Given the description of an element on the screen output the (x, y) to click on. 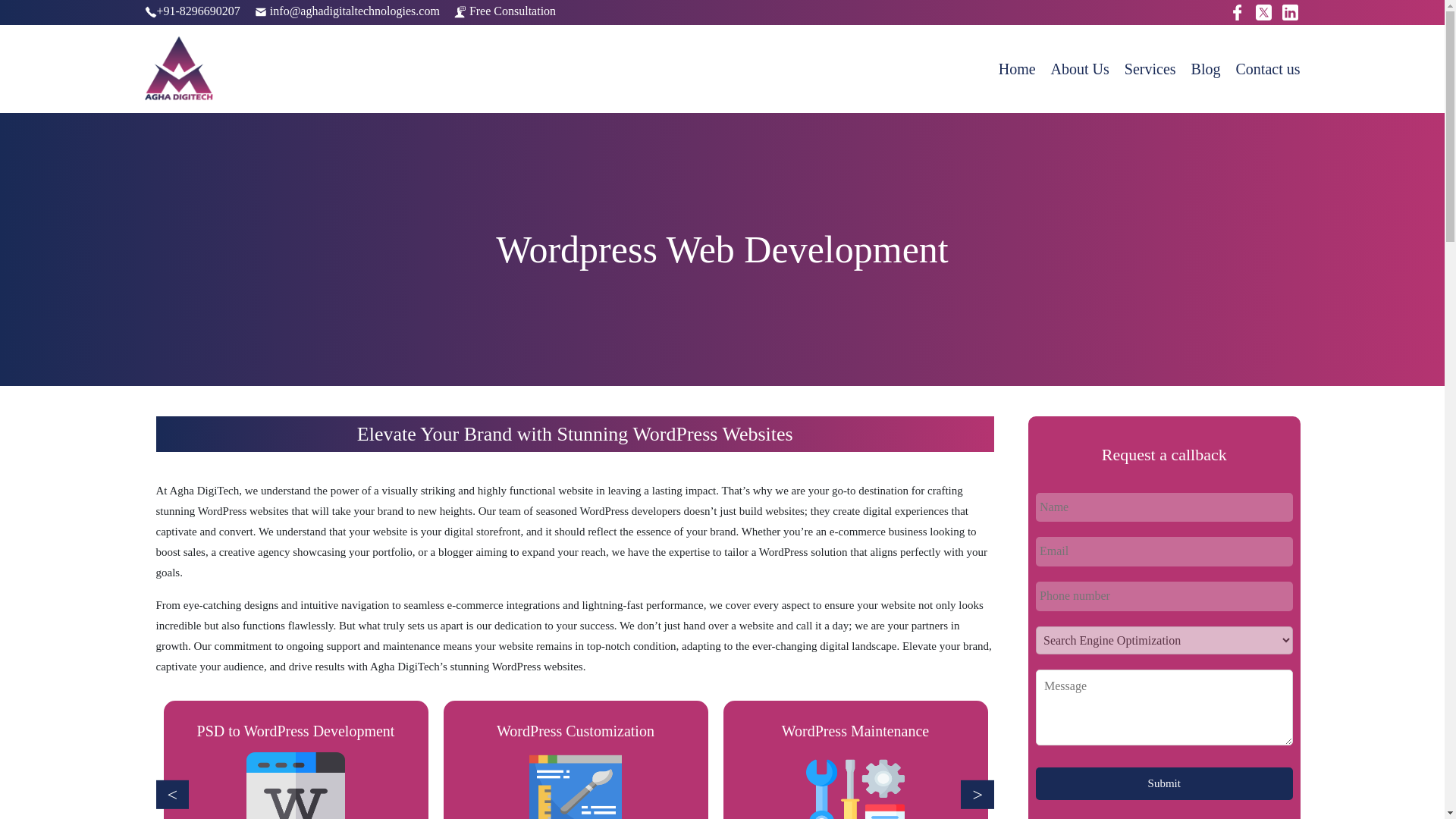
Submit (1163, 783)
Free Consultation (505, 10)
About Us (1080, 68)
Home (1016, 68)
Services (1150, 68)
